Given the description of an element on the screen output the (x, y) to click on. 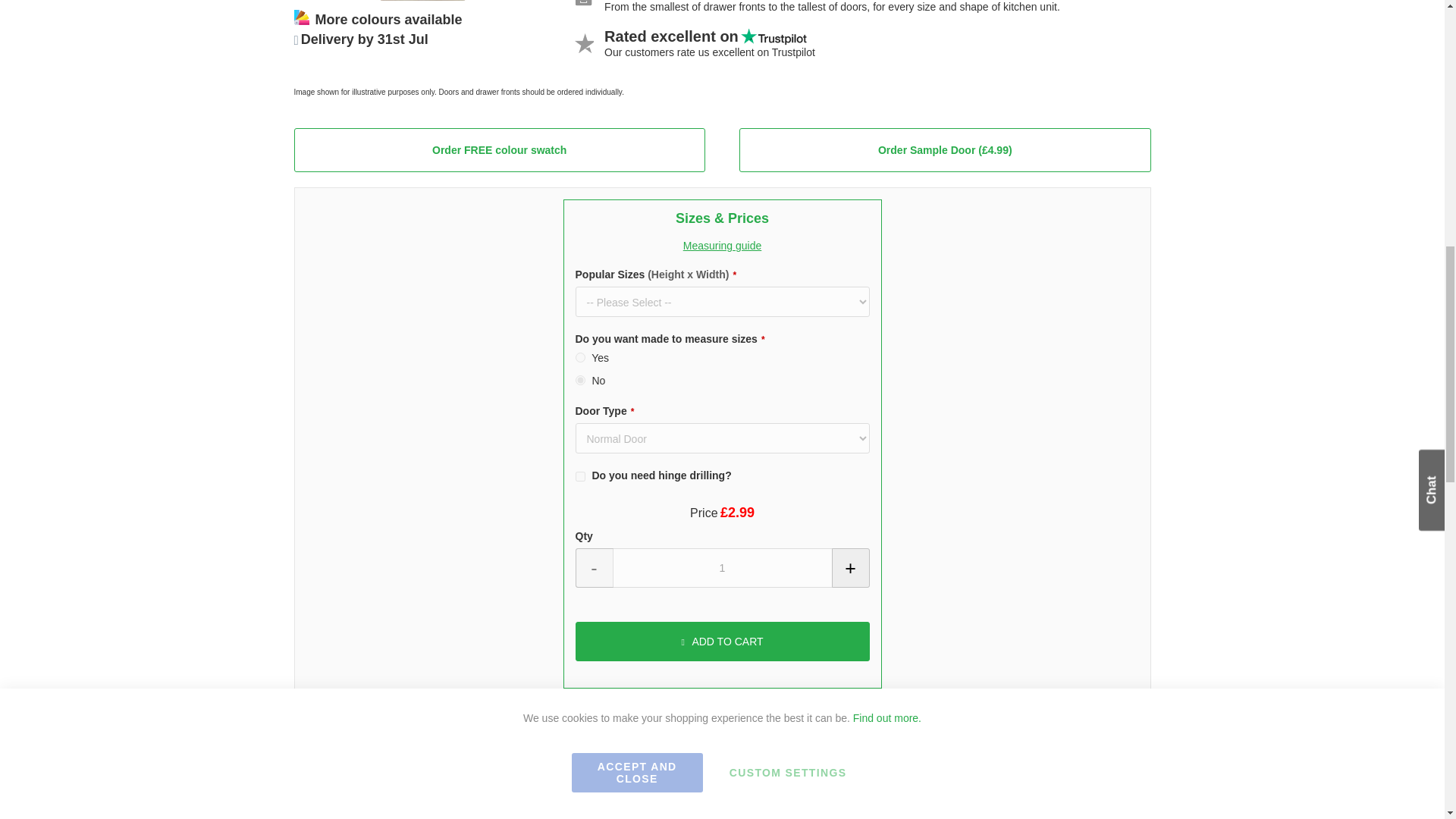
Order FREE colour swatch (499, 149)
1079105 (580, 357)
1078943 (580, 476)
1 (722, 567)
Order Sample Door (944, 149)
Add to Cart (722, 640)
Qty (722, 567)
1079106 (580, 379)
